Given the description of an element on the screen output the (x, y) to click on. 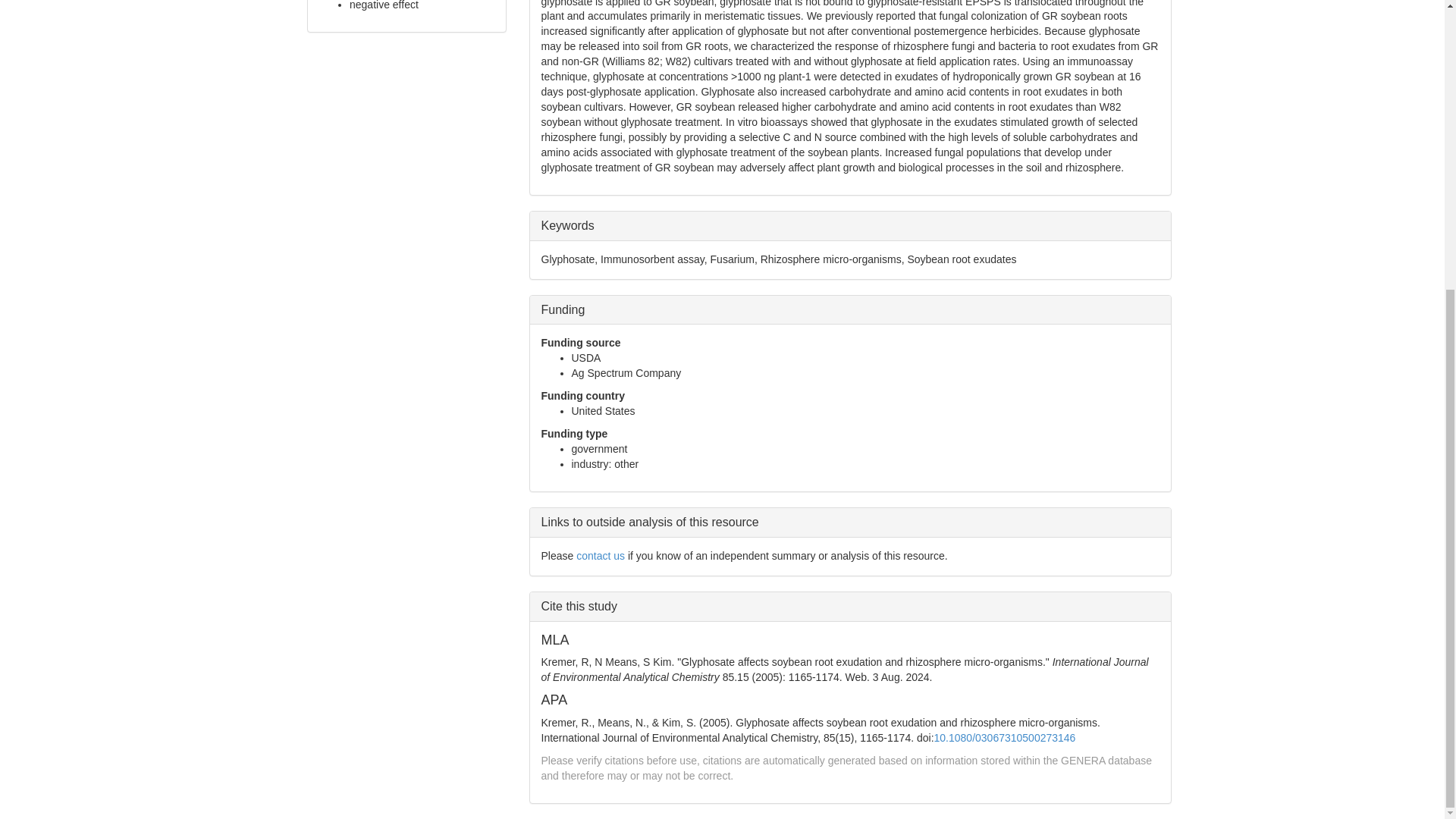
contact us (600, 555)
